Given the description of an element on the screen output the (x, y) to click on. 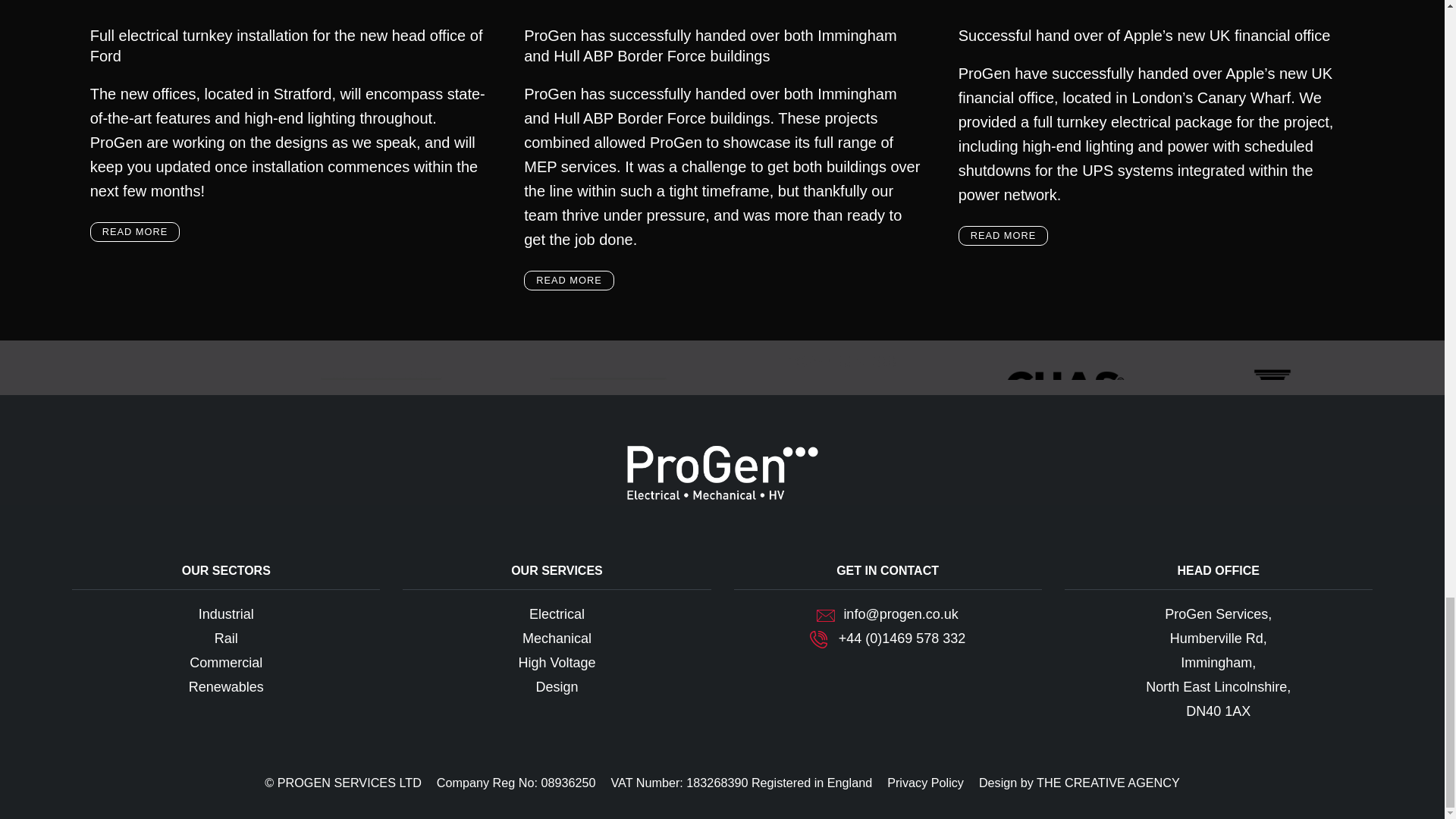
Read more (569, 280)
Industrial (225, 613)
Read more (135, 231)
Rail (226, 638)
Read more (1003, 235)
READ MORE (1003, 235)
Commercial (225, 662)
READ MORE (135, 231)
Renewables (226, 686)
READ MORE (569, 280)
